Given the description of an element on the screen output the (x, y) to click on. 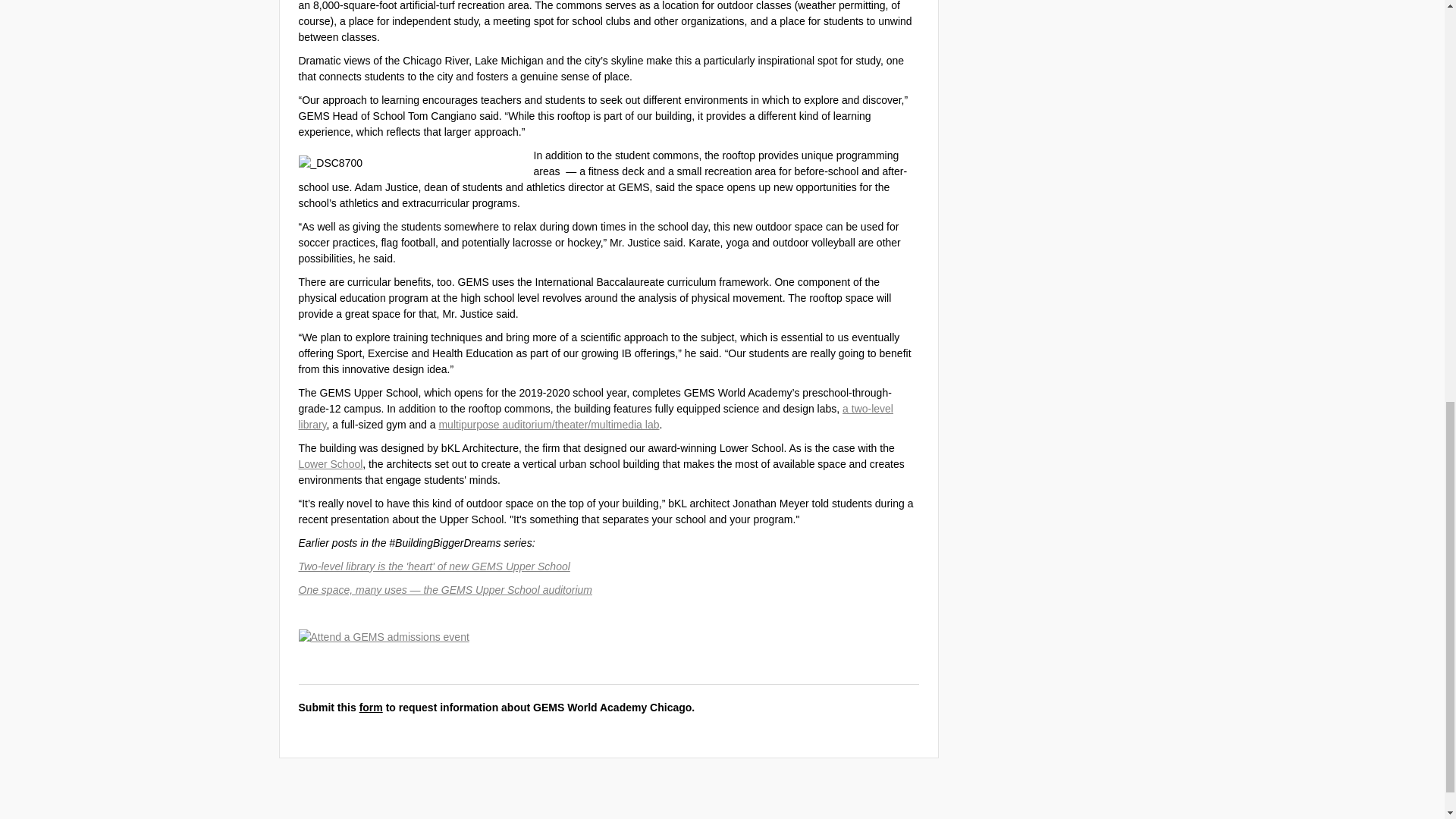
a two-level library (595, 415)
Two-level library is the 'heart' of new GEMS Upper School (434, 565)
Lower School (330, 463)
form (370, 706)
